Given the description of an element on the screen output the (x, y) to click on. 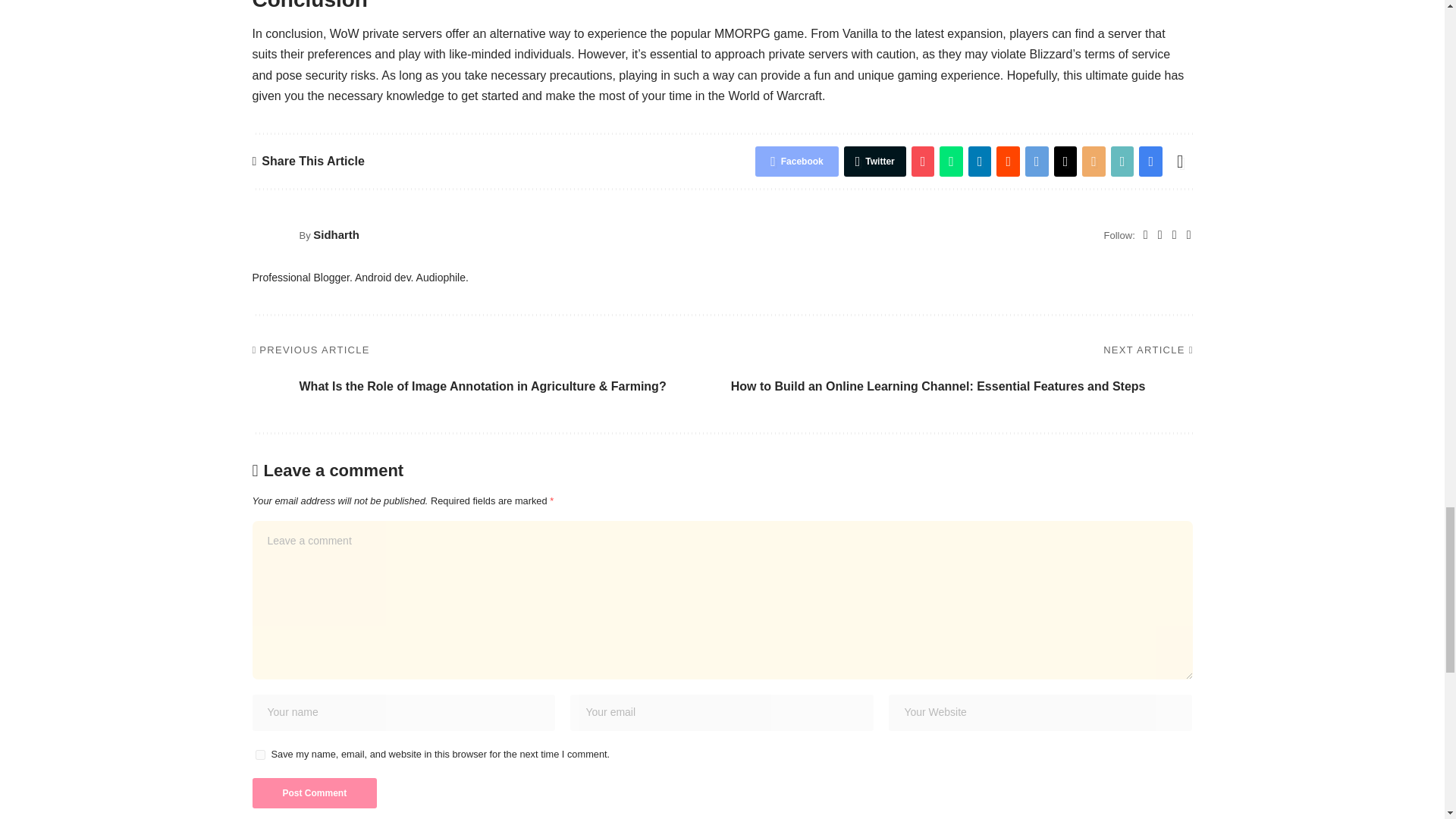
Post Comment (314, 793)
yes (259, 755)
